Given the description of an element on the screen output the (x, y) to click on. 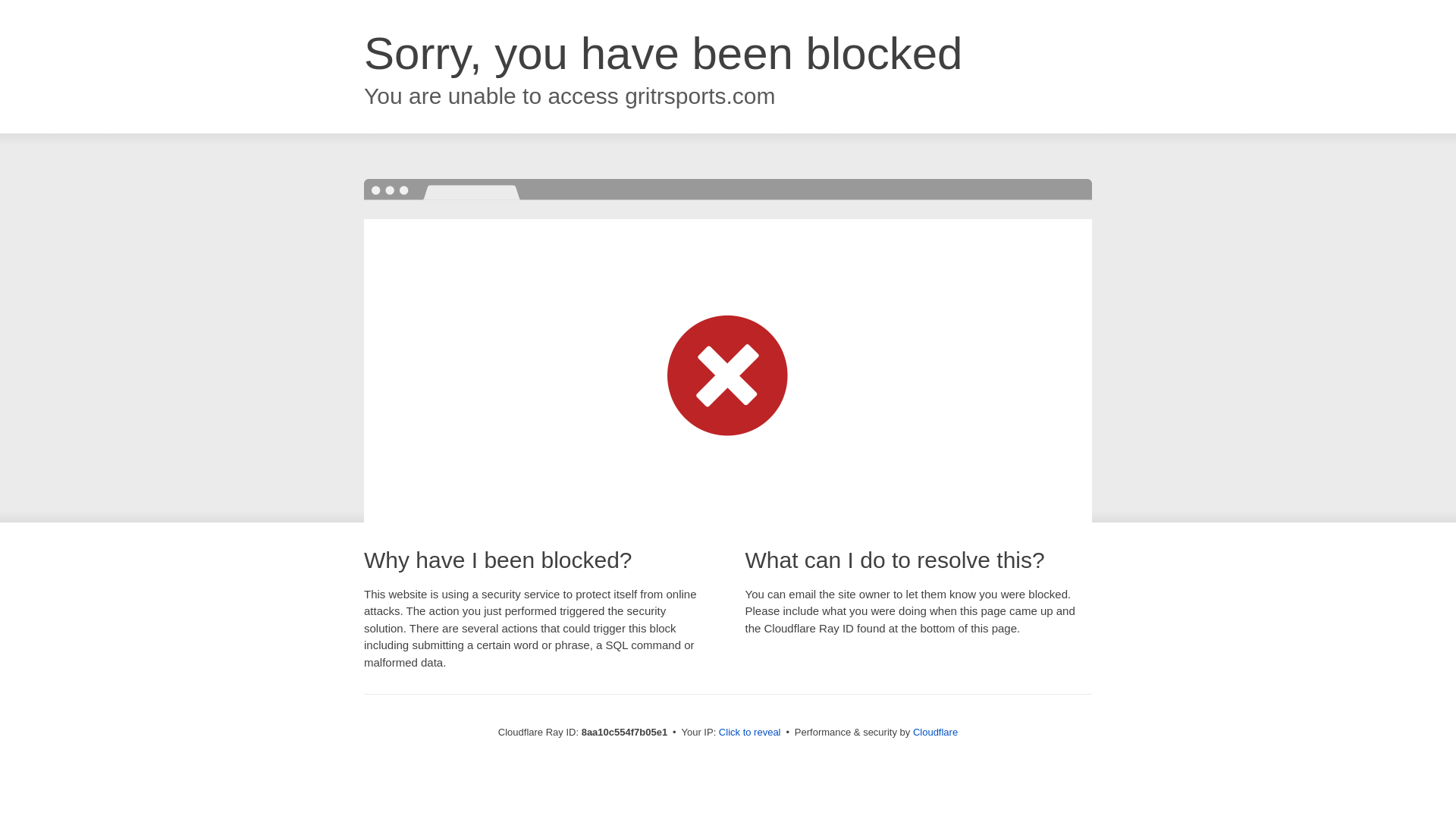
Cloudflare (935, 731)
Click to reveal (749, 732)
